Given the description of an element on the screen output the (x, y) to click on. 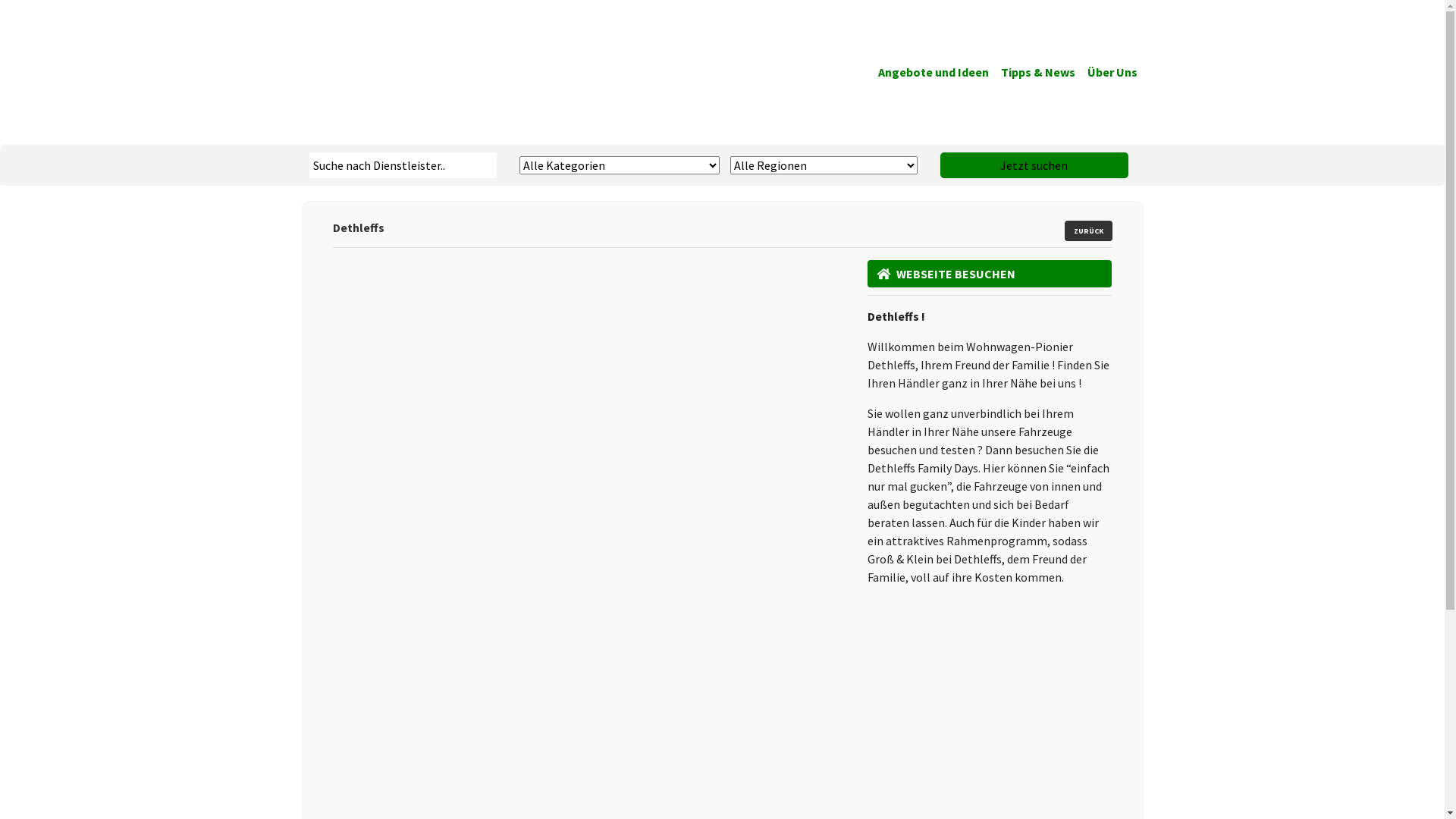
Jetzt suchen Element type: text (1034, 165)
Dethleffs Element type: hover (588, 506)
Tipps & News Element type: text (1037, 71)
WEBSEITE BESUCHEN Element type: text (989, 273)
Angebote und Ideen Element type: text (933, 71)
Dethleffs Element type: hover (588, 328)
